Given the description of an element on the screen output the (x, y) to click on. 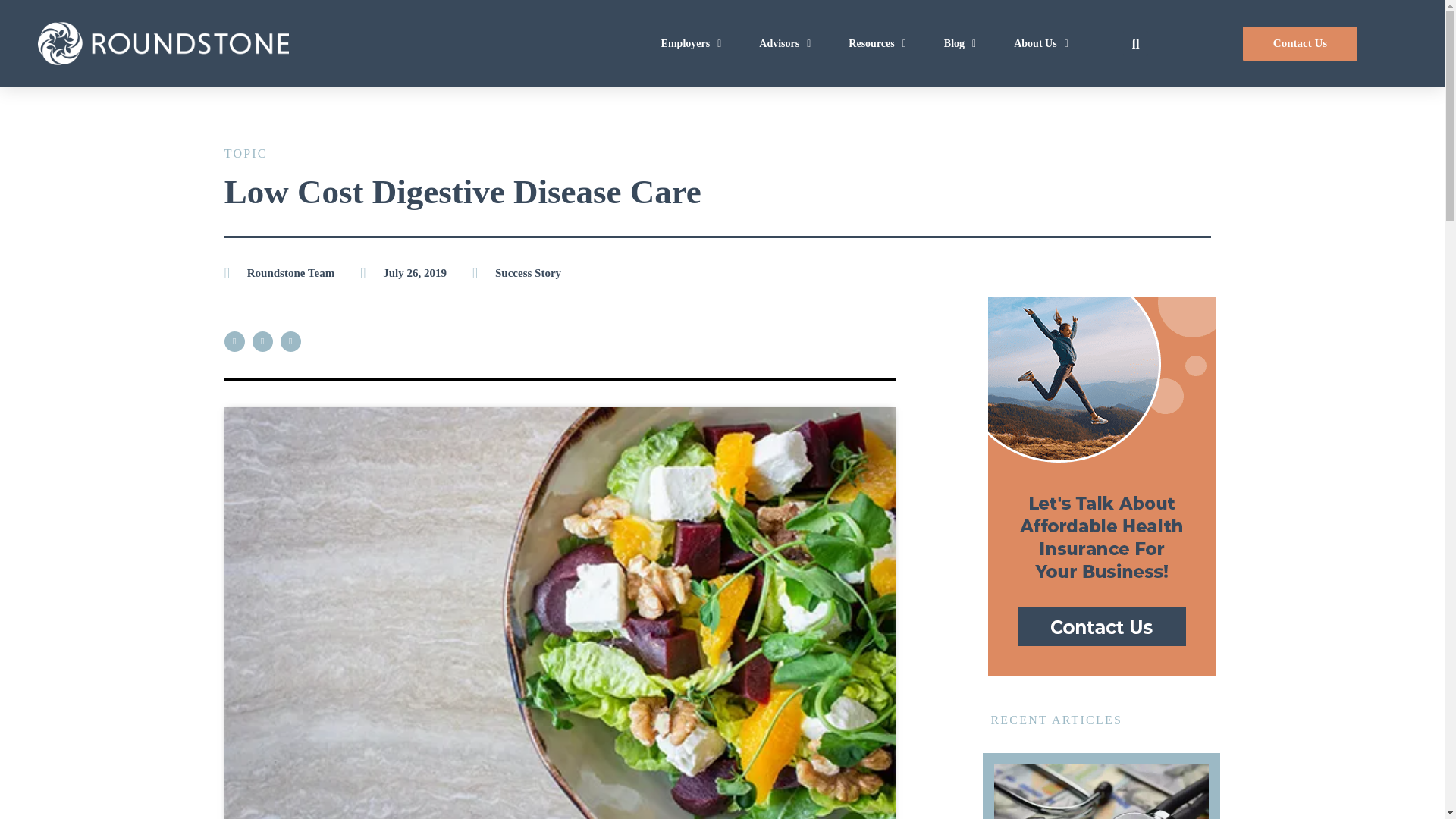
Resources (877, 42)
Advisors (784, 42)
Employers (691, 42)
Blog (960, 42)
About Us (1040, 42)
